Given the description of an element on the screen output the (x, y) to click on. 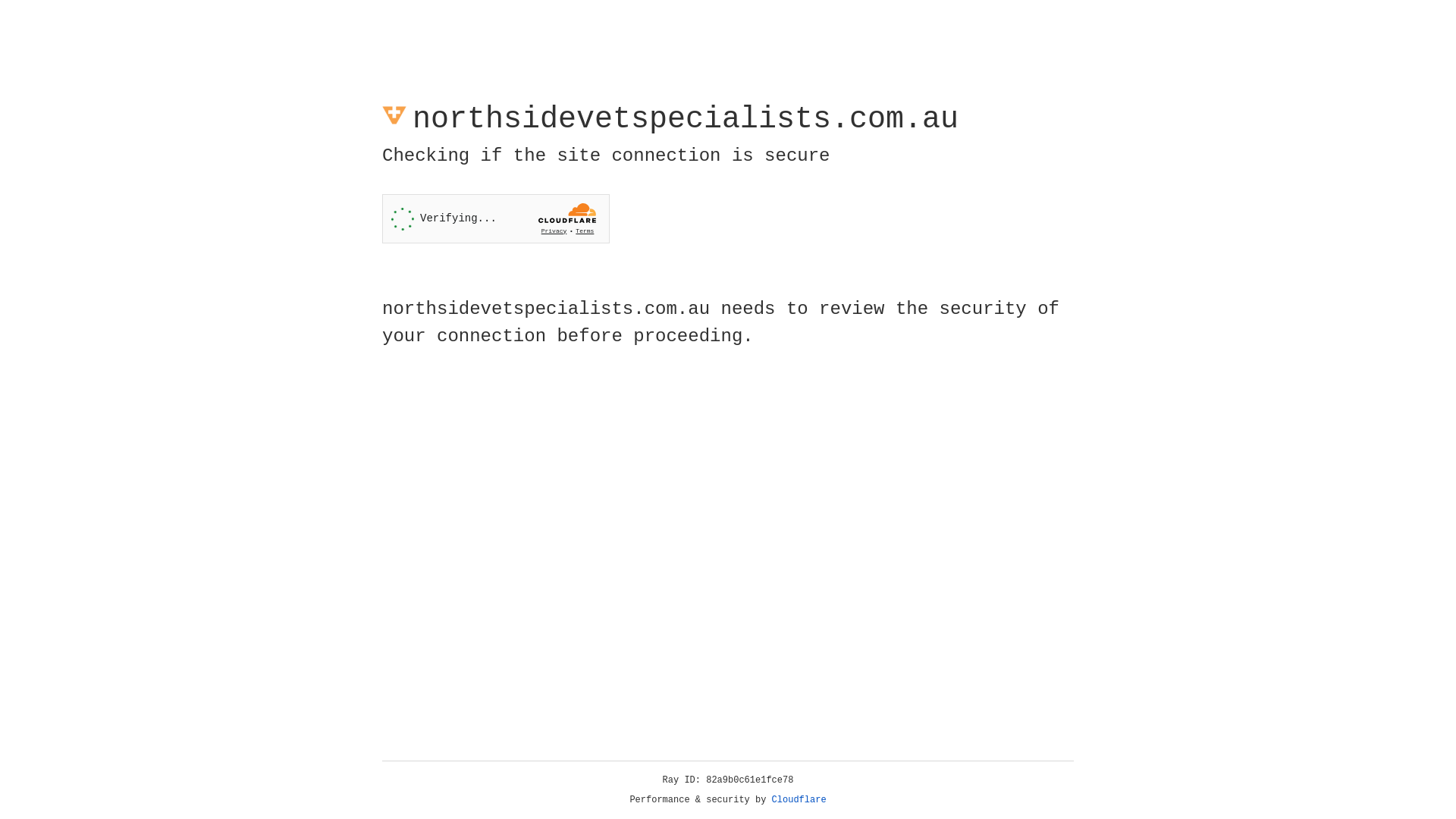
Cloudflare Element type: text (798, 799)
Widget containing a Cloudflare security challenge Element type: hover (495, 218)
